Given the description of an element on the screen output the (x, y) to click on. 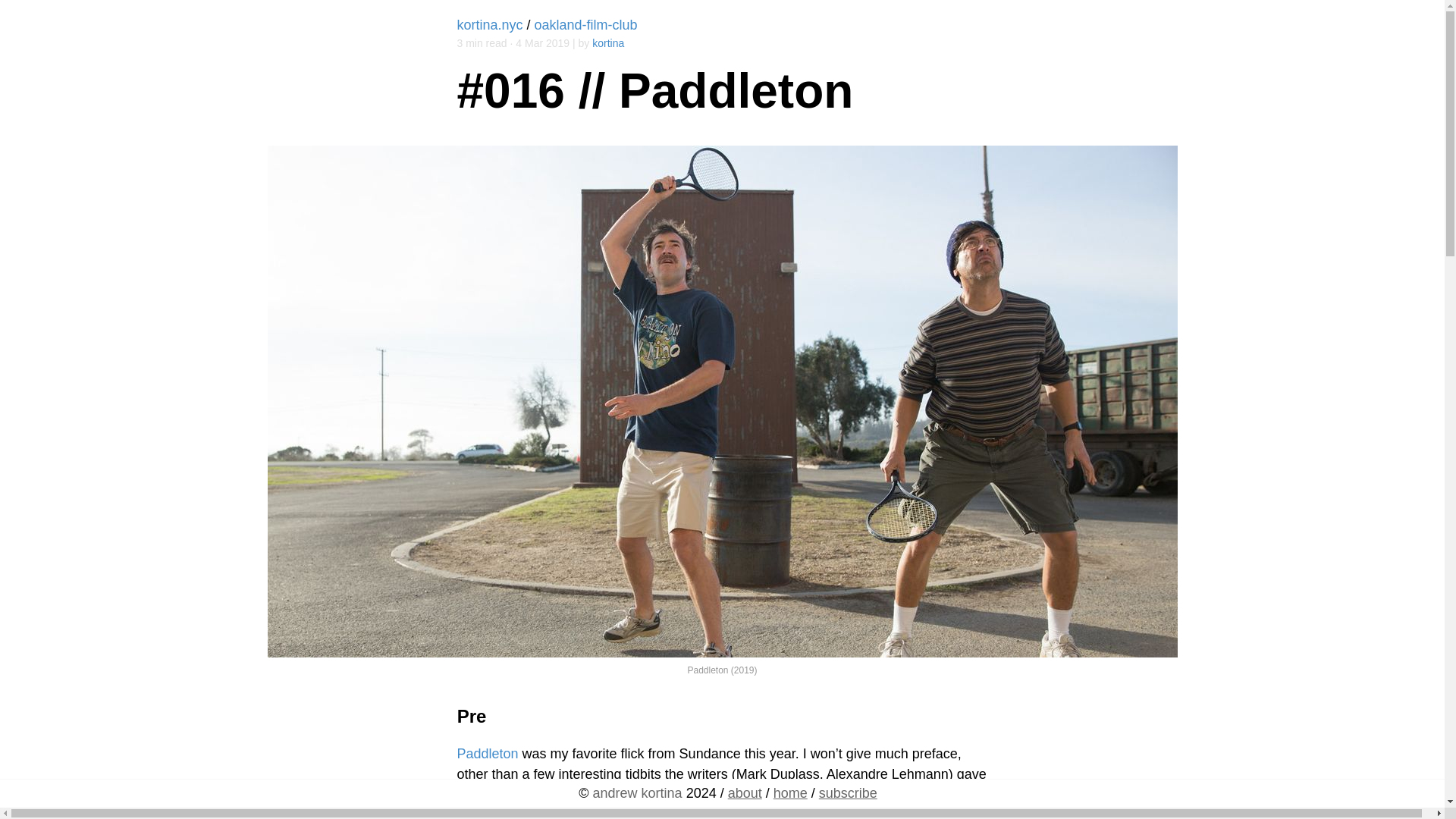
Paddleton (487, 753)
andrew kortina (637, 792)
experiments and essays by andrew kortina (790, 792)
oakland-film-club (585, 24)
subscribe (847, 792)
subscribe to updates (847, 792)
kortina (608, 42)
about (744, 792)
home (790, 792)
about andrew kortina (744, 792)
kortina.nyc (489, 24)
andrew kortina (637, 792)
